Given the description of an element on the screen output the (x, y) to click on. 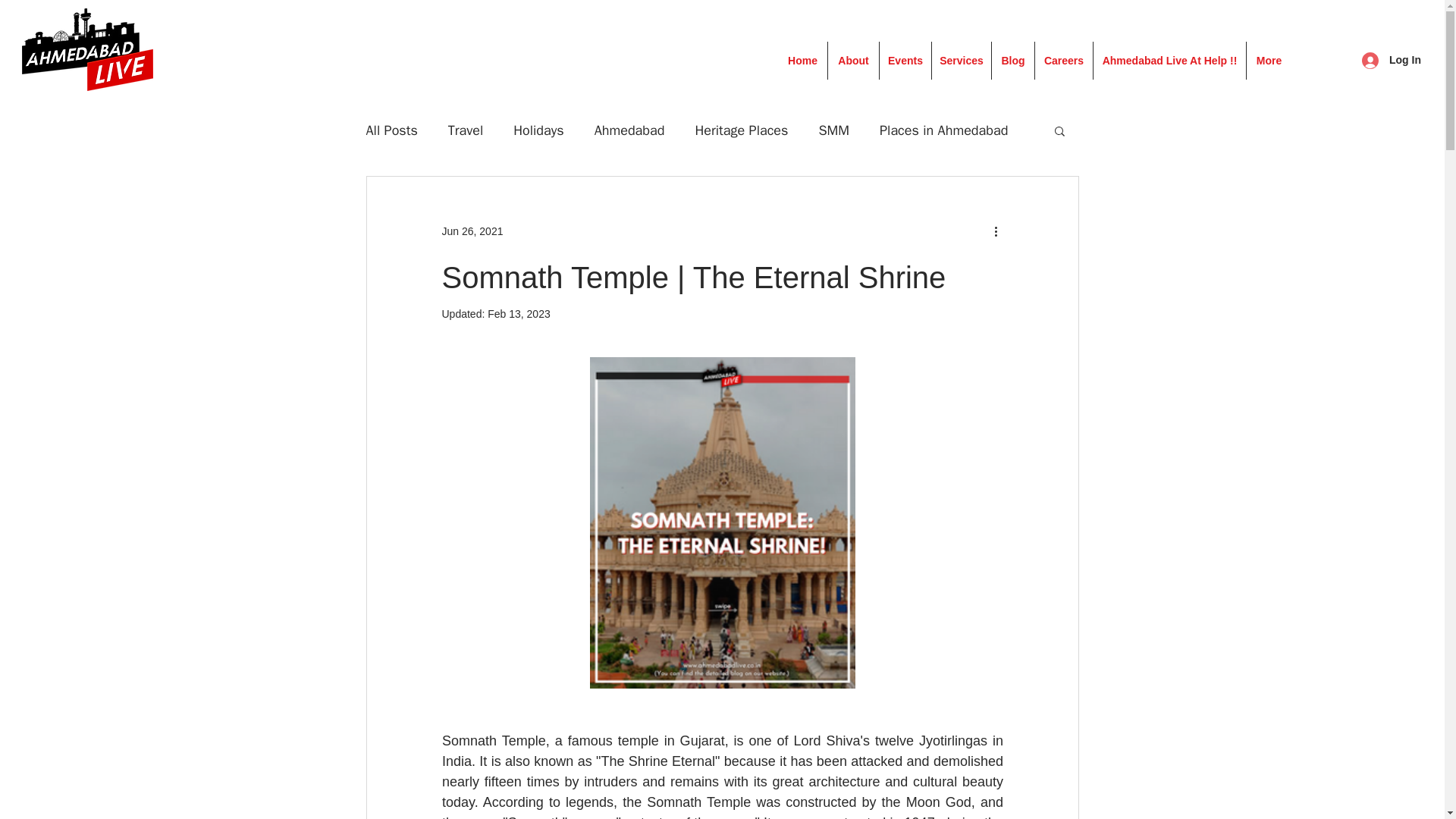
About (853, 60)
Feb 13, 2023 (518, 313)
Heritage Places (740, 130)
Travel (465, 130)
Home (802, 60)
Holidays (538, 130)
Jun 26, 2021 (471, 230)
Places in Ahmedabad (943, 130)
SMM (833, 130)
Ahmedabad (629, 130)
